Given the description of an element on the screen output the (x, y) to click on. 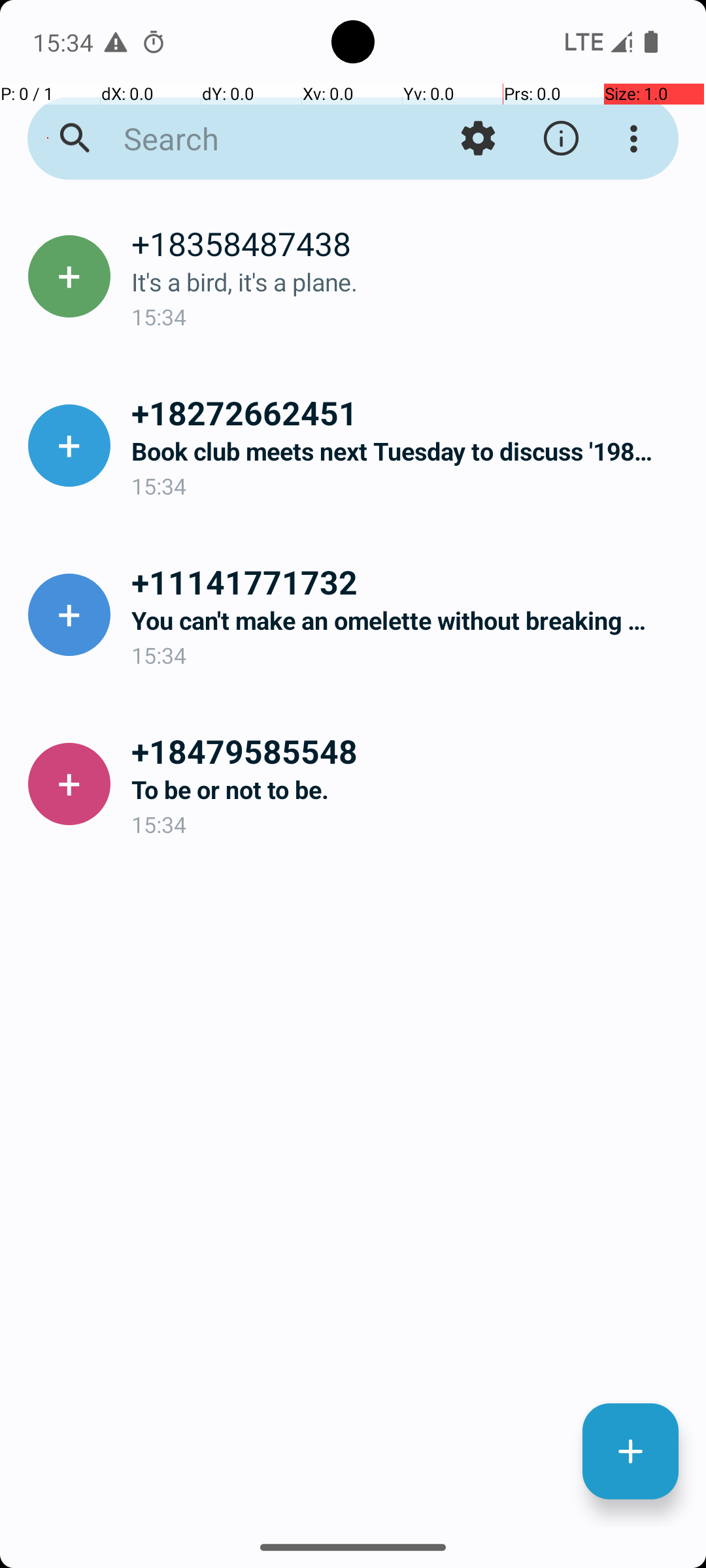
+18358487438 Element type: android.widget.TextView (408, 242)
+18272662451 Element type: android.widget.TextView (408, 412)
Book club meets next Tuesday to discuss '1984'. Element type: android.widget.TextView (408, 450)
+11141771732 Element type: android.widget.TextView (408, 581)
You can't make an omelette without breaking a few eggs. Element type: android.widget.TextView (408, 620)
+18479585548 Element type: android.widget.TextView (408, 750)
To be or not to be. Element type: android.widget.TextView (408, 789)
